Given the description of an element on the screen output the (x, y) to click on. 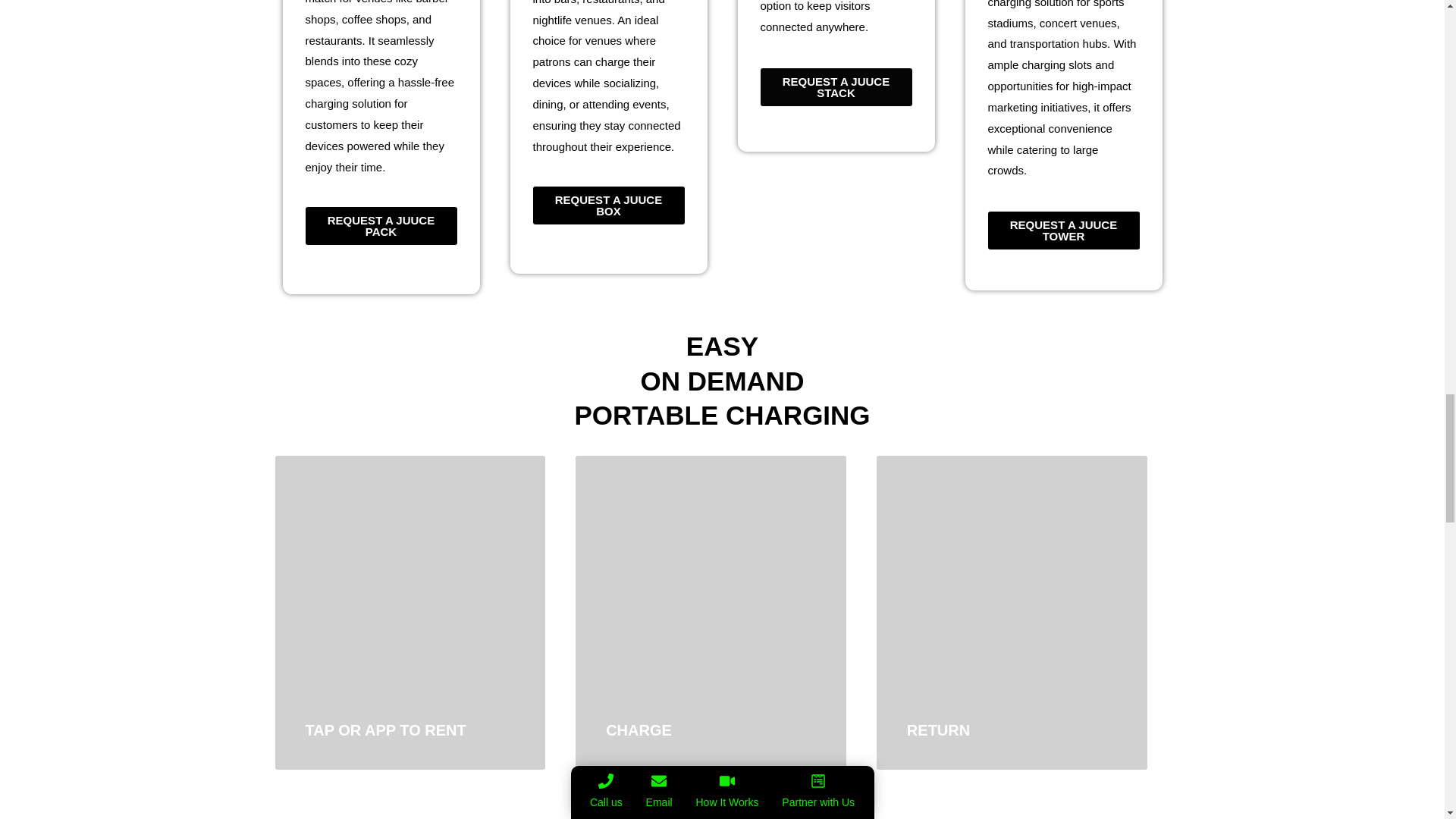
RETURN (938, 729)
REQUEST A JUUCE TOWER (1062, 230)
REQUEST A JUUCE BOX (608, 205)
REQUEST A JUUCE STACK (835, 86)
REQUEST A JUUCE PACK (380, 225)
CHARGE (638, 729)
TAP OR APP TO RENT (384, 729)
